Given the description of an element on the screen output the (x, y) to click on. 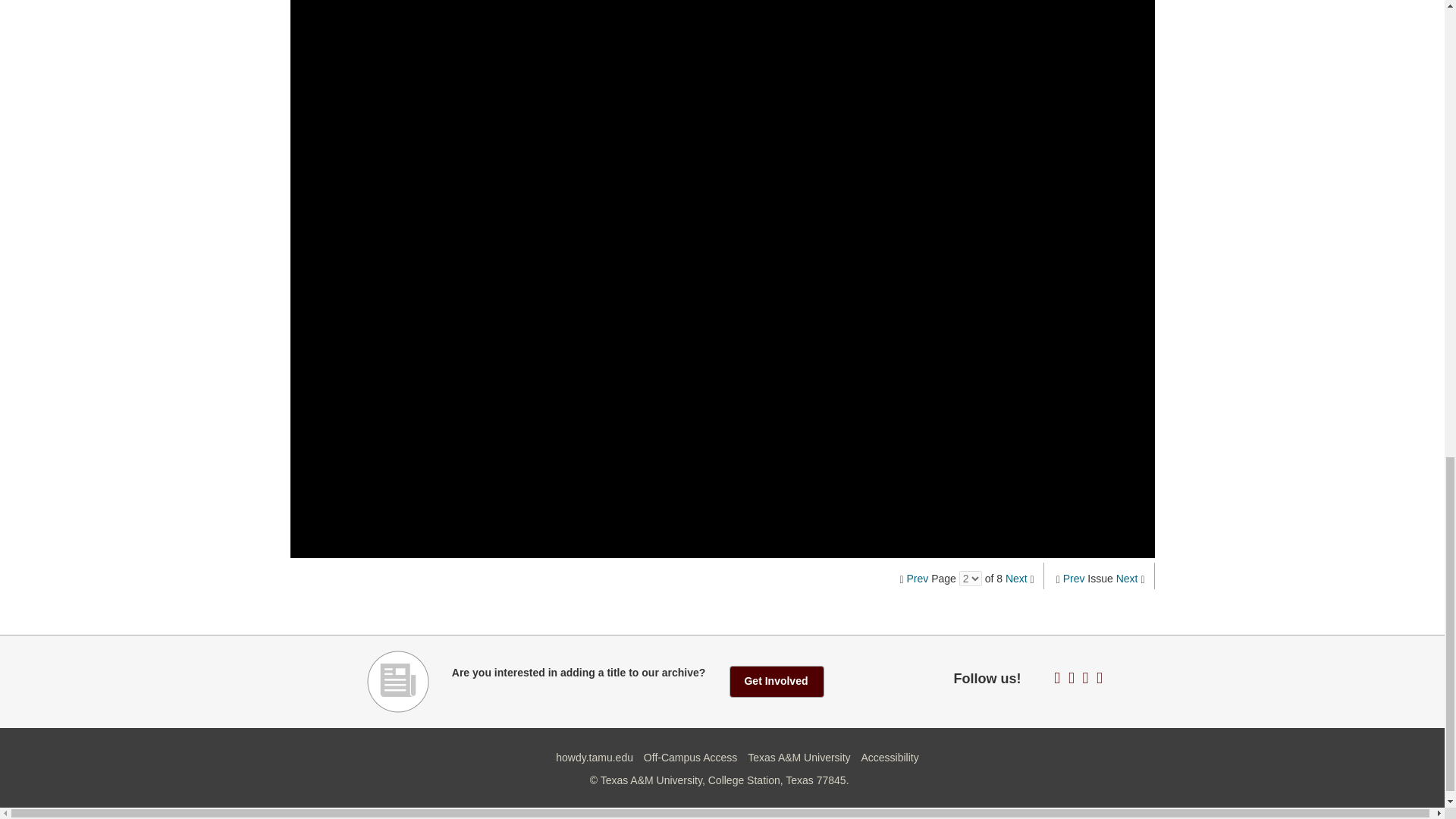
Next (1127, 578)
Prev (917, 578)
Get Involved (776, 681)
Prev (1073, 578)
howdy.tamu.edu (594, 757)
Off-Campus Access (689, 757)
Accessibility (889, 757)
Next (1016, 578)
